Given the description of an element on the screen output the (x, y) to click on. 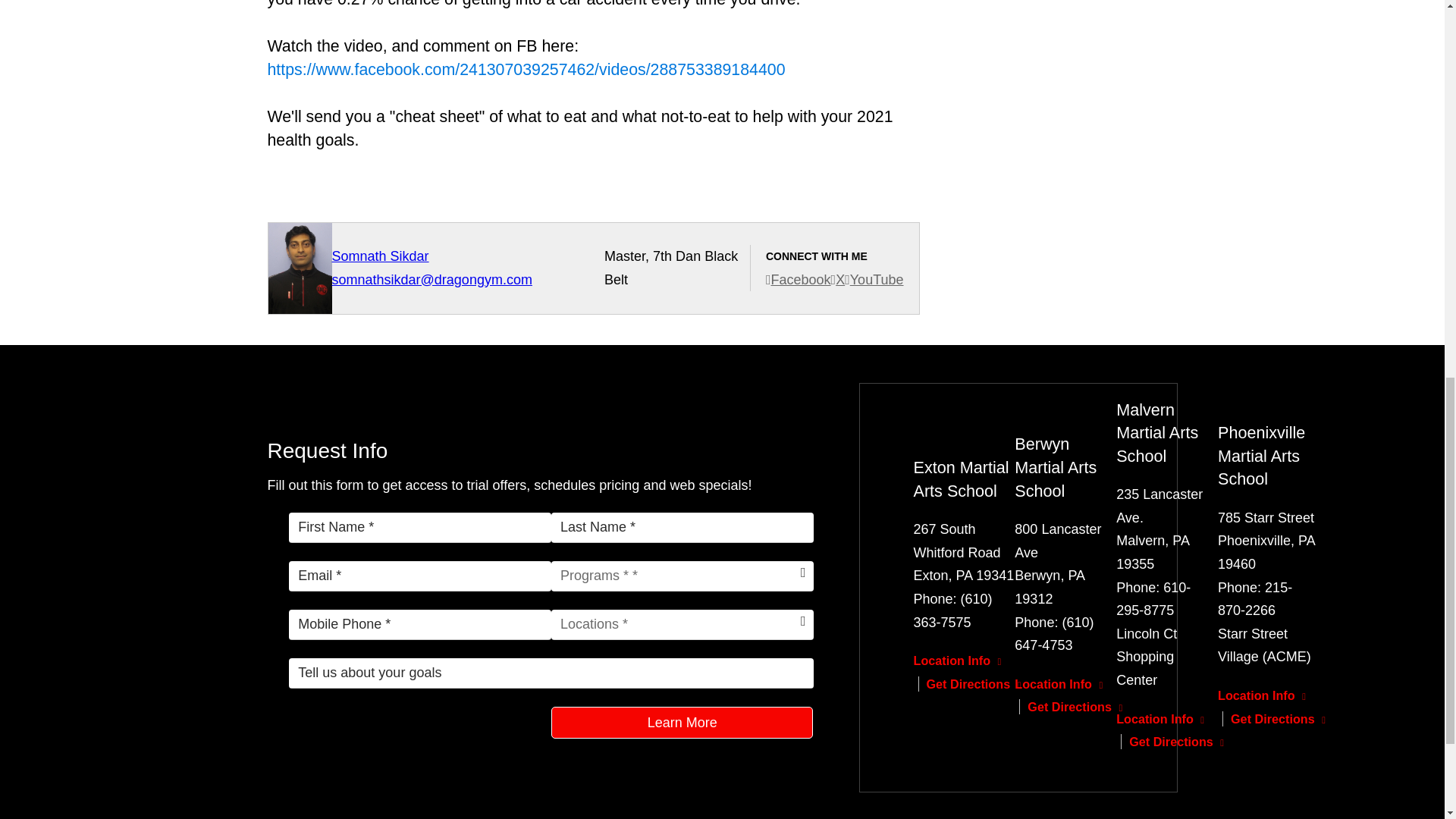
Find me on Facebook (798, 279)
Follow me on X (838, 279)
Watch me on YouTube (873, 279)
